Given the description of an element on the screen output the (x, y) to click on. 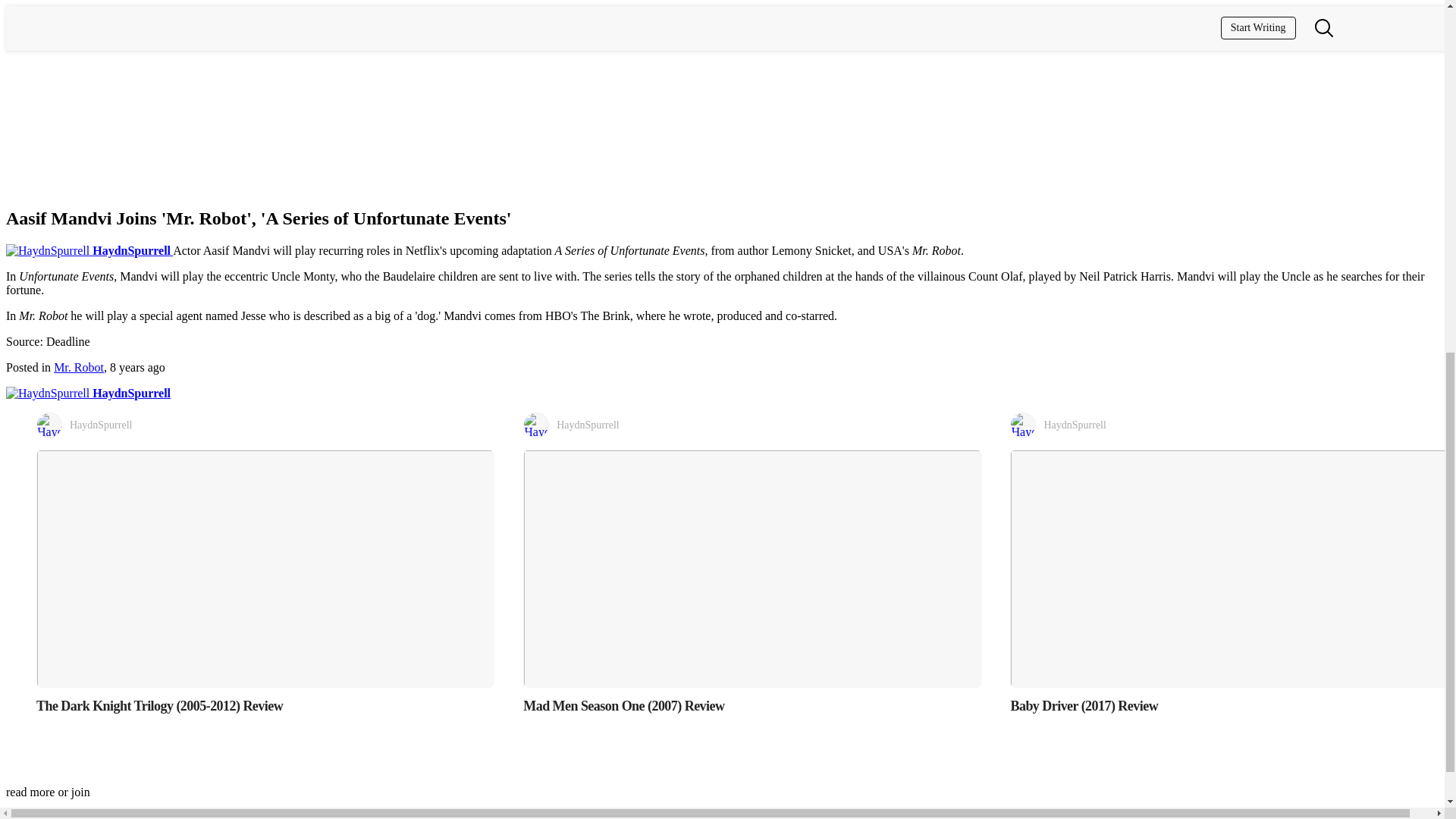
Mr. Robot (78, 367)
HaydnSpurrell (89, 250)
HaydnSpurrell (87, 392)
HaydnSpurrell (265, 425)
HaydnSpurrell (751, 425)
